Given the description of an element on the screen output the (x, y) to click on. 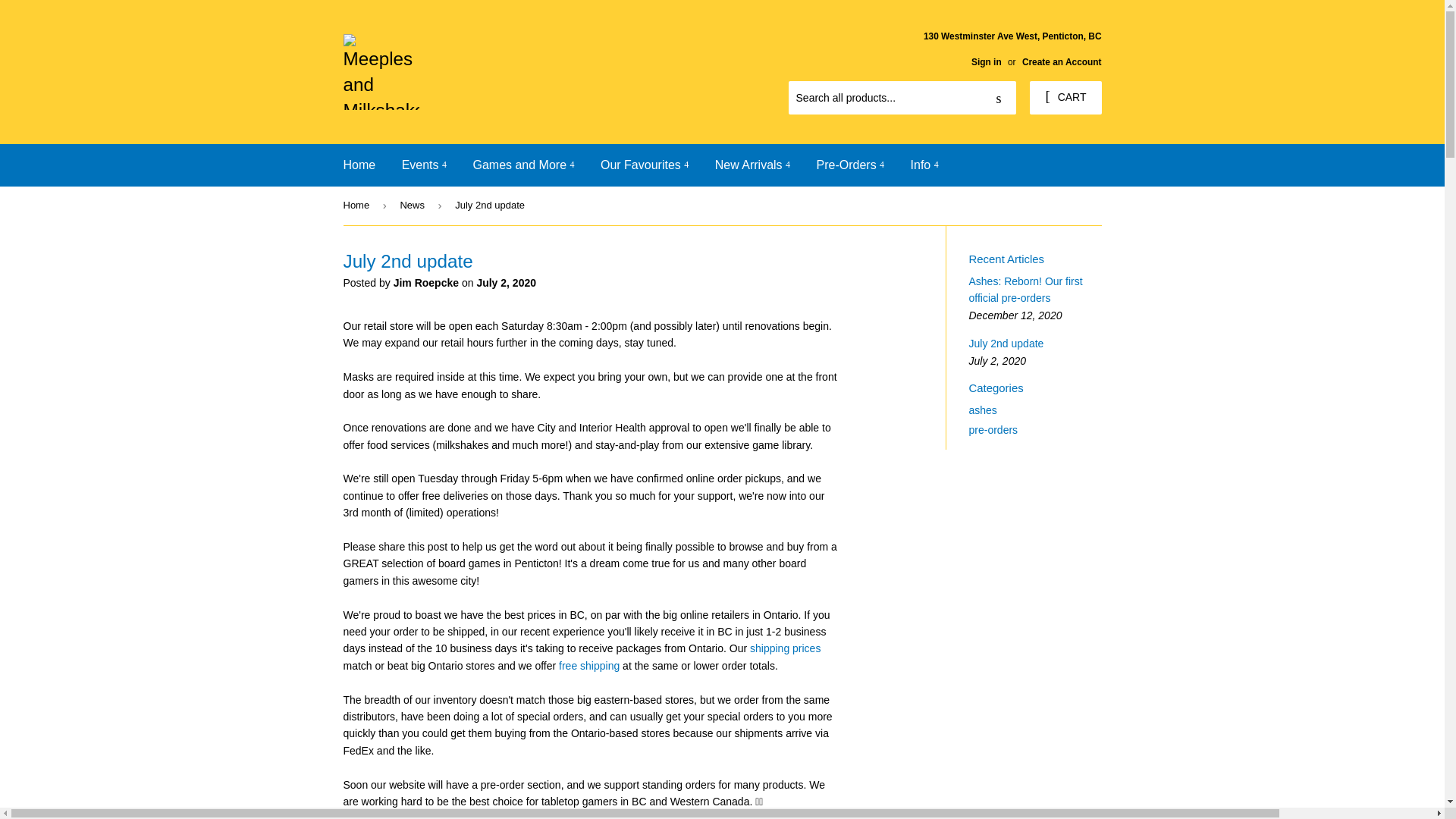
Search (998, 98)
Show articles tagged ashes (983, 410)
shipping prices (785, 648)
Show articles tagged pre-orders (993, 429)
130 Westminster Ave West, Penticton, BC (1012, 48)
Sign in (986, 61)
CART (1064, 97)
free shipping (589, 665)
Create an Account (1062, 61)
